Given the description of an element on the screen output the (x, y) to click on. 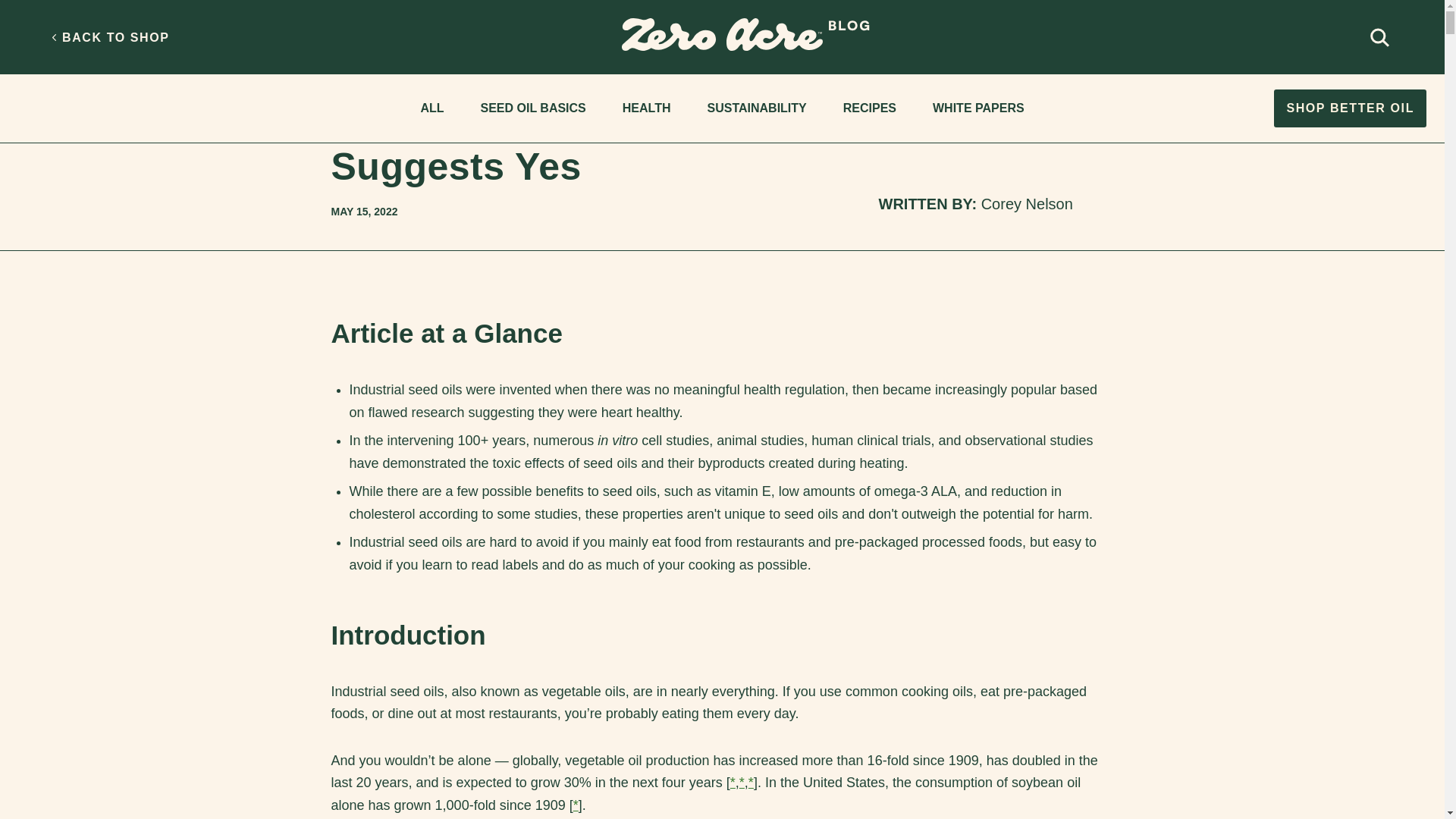
RECIPES (869, 108)
SEED OIL BASICS (531, 108)
HEALTH (646, 108)
SUSTAINABILITY (756, 108)
SHOP BETTER OIL (1350, 108)
BACK TO SHOP (112, 38)
WHITE PAPERS (978, 108)
HEALTH (351, 45)
